Given the description of an element on the screen output the (x, y) to click on. 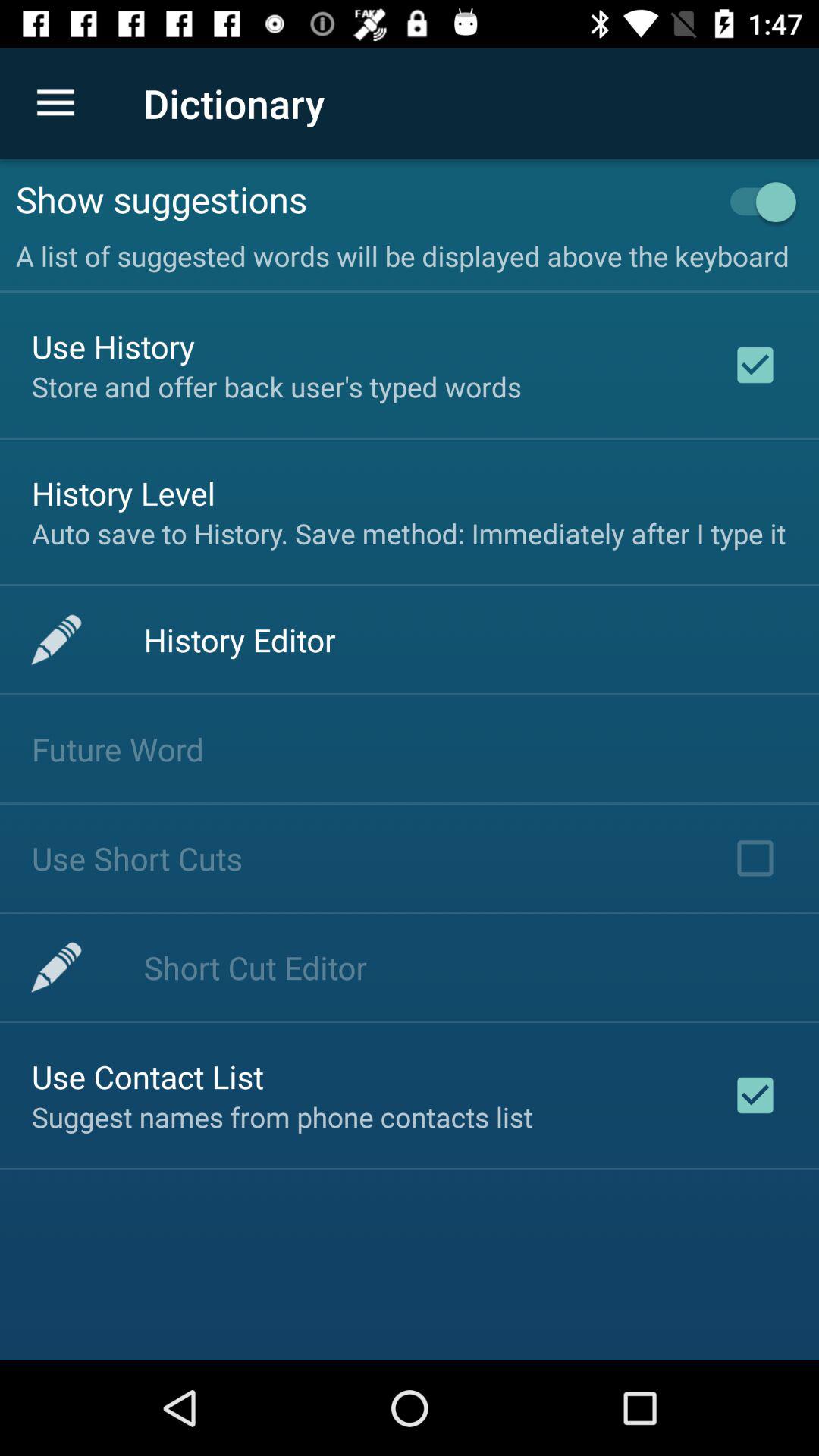
select item next to show suggestions item (755, 202)
